Given the description of an element on the screen output the (x, y) to click on. 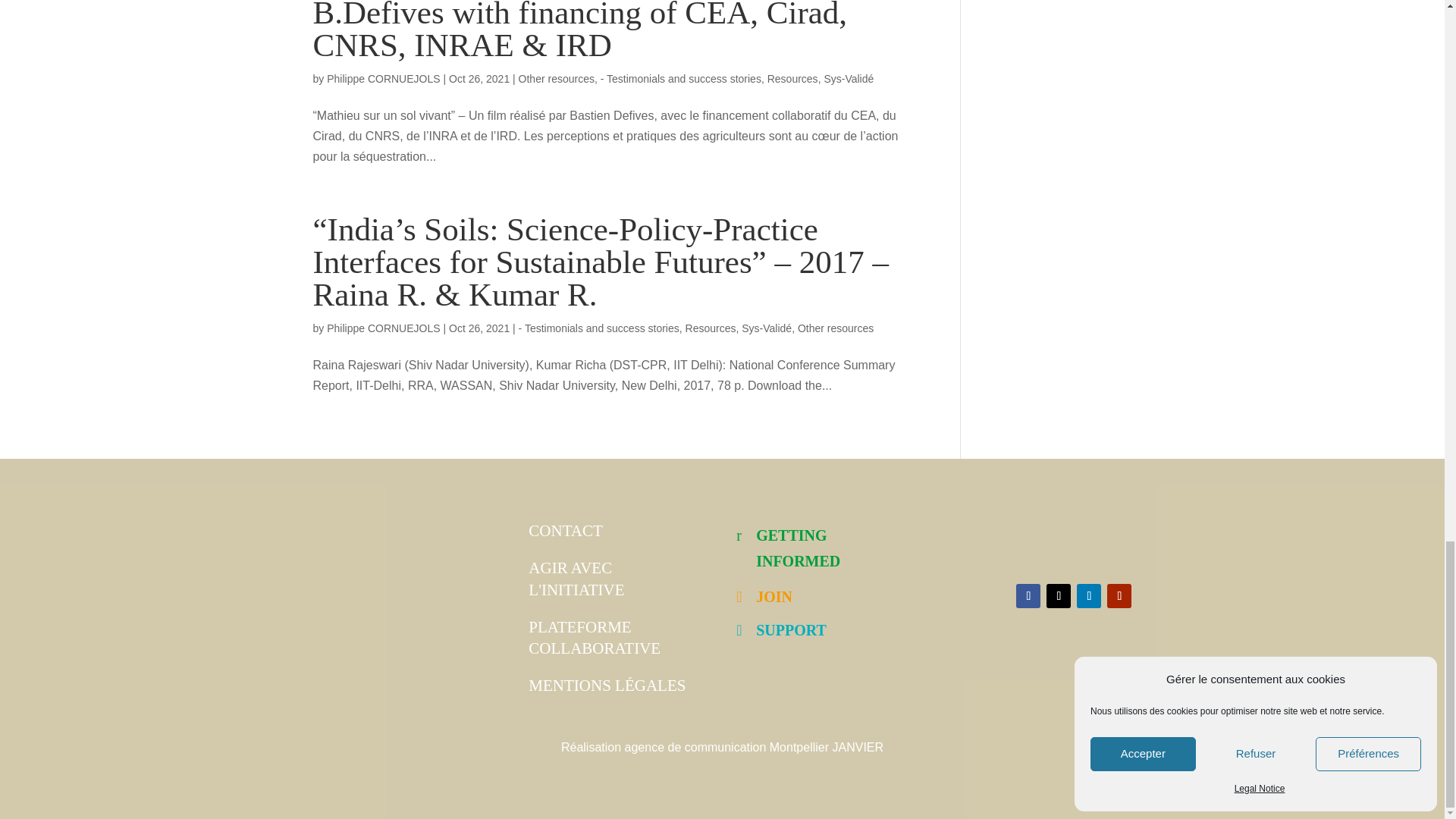
Follow on LinkedIn (1088, 595)
Posts by Philippe CORNUEJOLS (382, 328)
Follow on Facebook (1028, 595)
Follow on Youtube (1118, 595)
Posts by Philippe CORNUEJOLS (382, 78)
Follow on X (1058, 595)
